Given the description of an element on the screen output the (x, y) to click on. 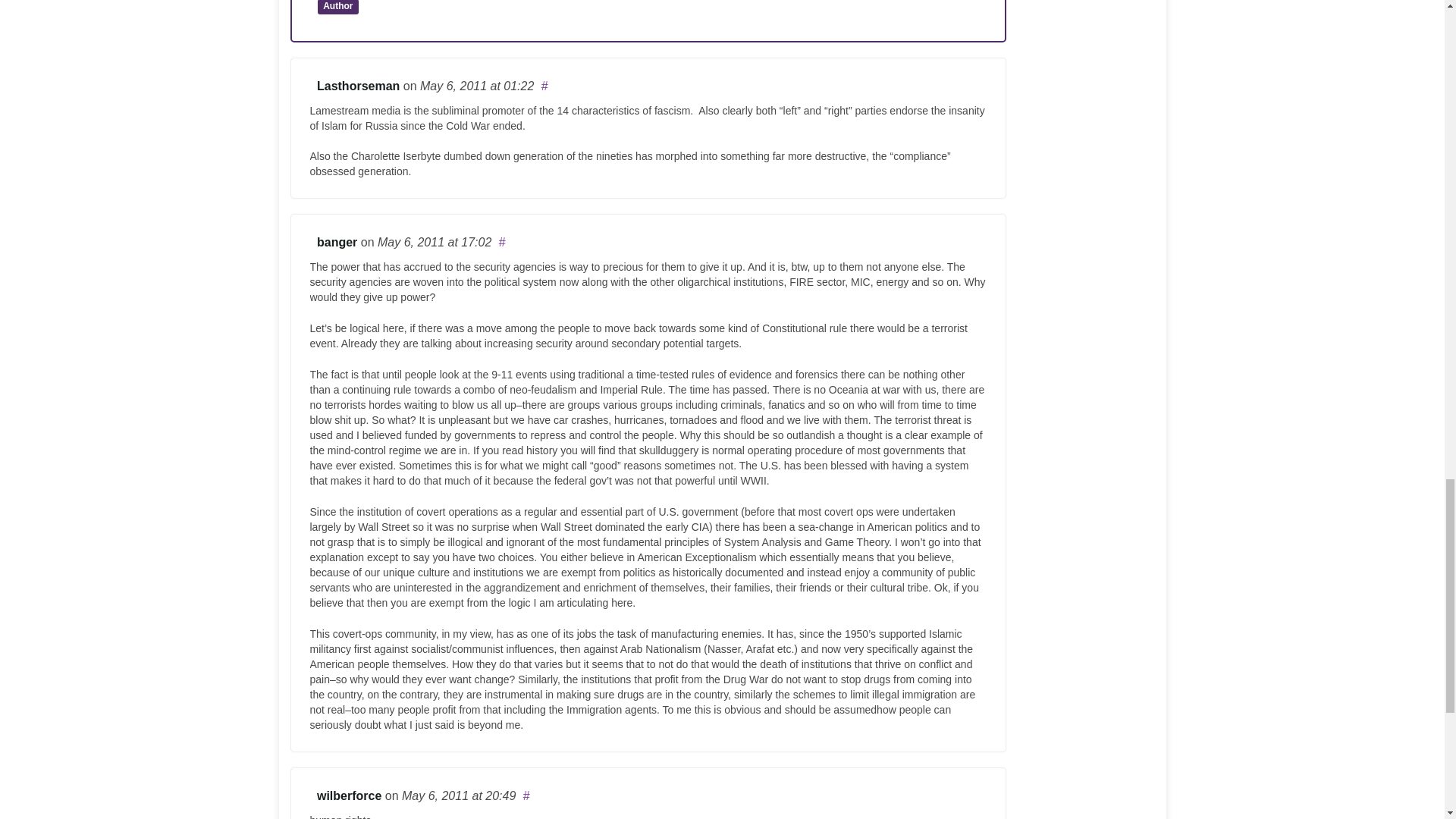
Lasthorseman (357, 85)
wilberforce (349, 795)
banger (336, 241)
